Given the description of an element on the screen output the (x, y) to click on. 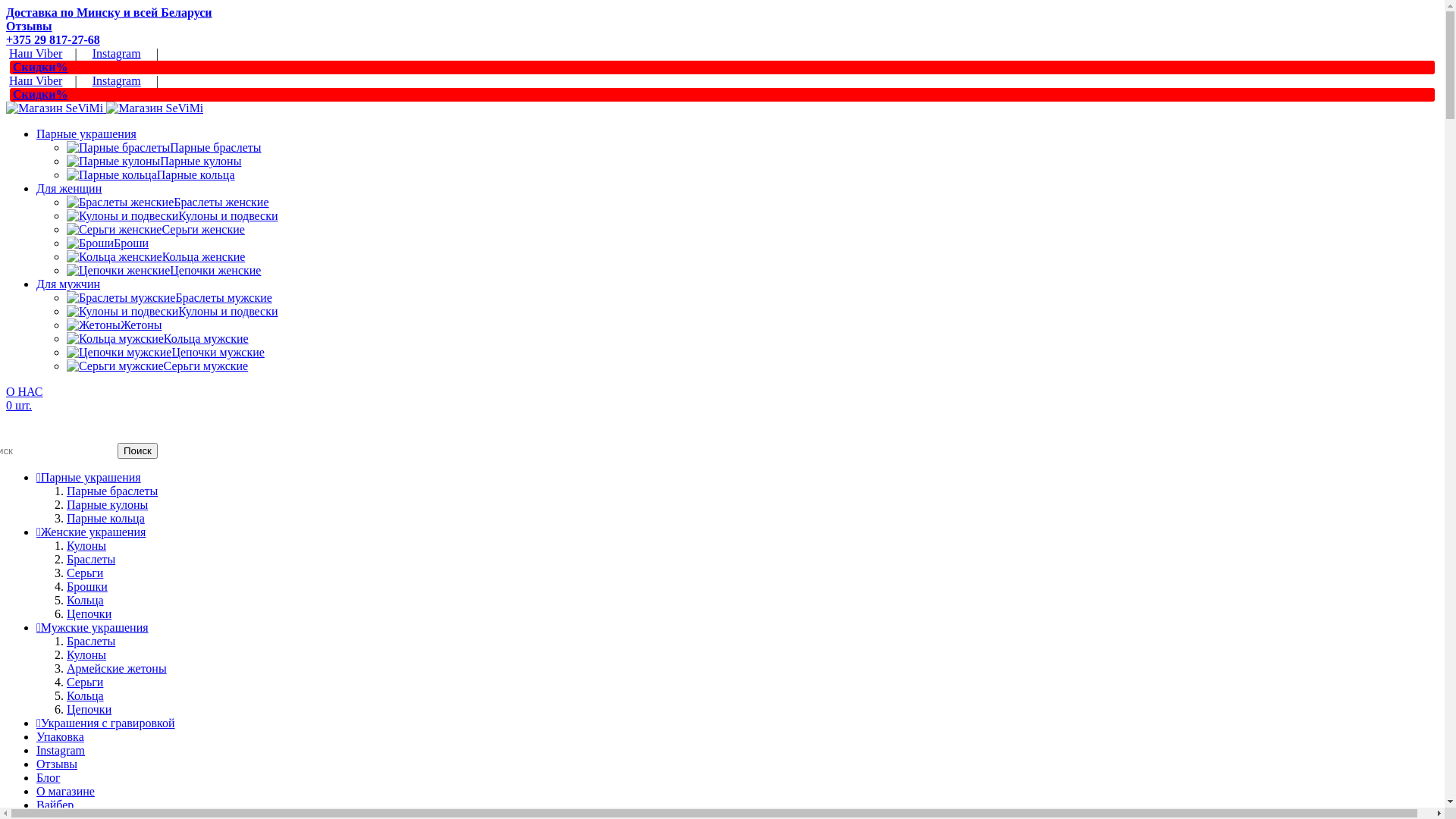
+375 29 817-27-68 Element type: text (53, 39)
Instagram Element type: text (116, 53)
Instagram Element type: text (60, 749)
Instagram Element type: text (116, 80)
